Given the description of an element on the screen output the (x, y) to click on. 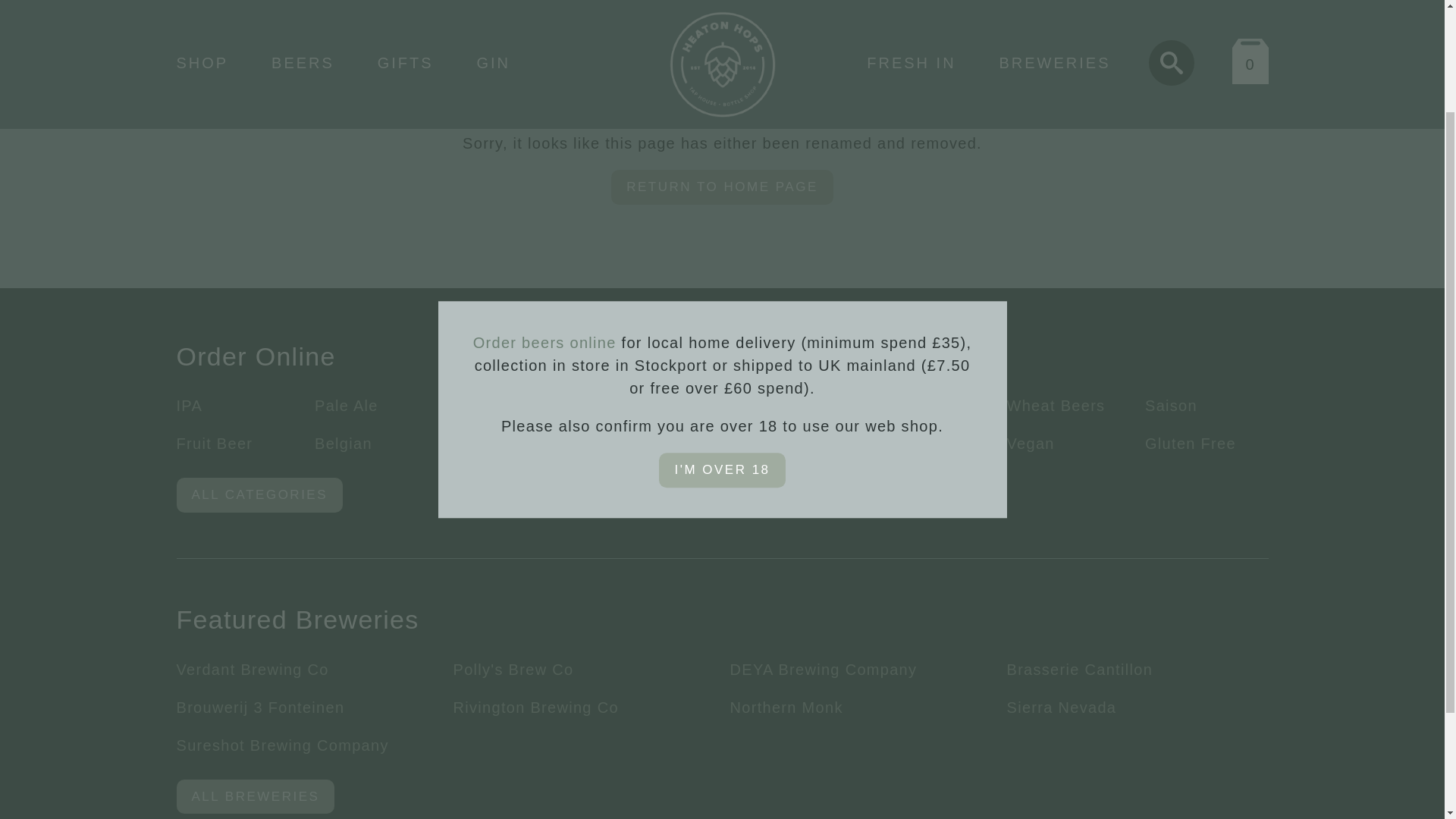
Sour Beers (634, 405)
Brouwerij 3 Fonteinen (259, 707)
Fruit Beer (213, 443)
Whisky (756, 443)
Stout (749, 405)
Sierra Nevada (1061, 707)
Flagons (897, 443)
Polly's Brew Co (512, 669)
Pale Ale (346, 405)
Lambic (895, 405)
